Given the description of an element on the screen output the (x, y) to click on. 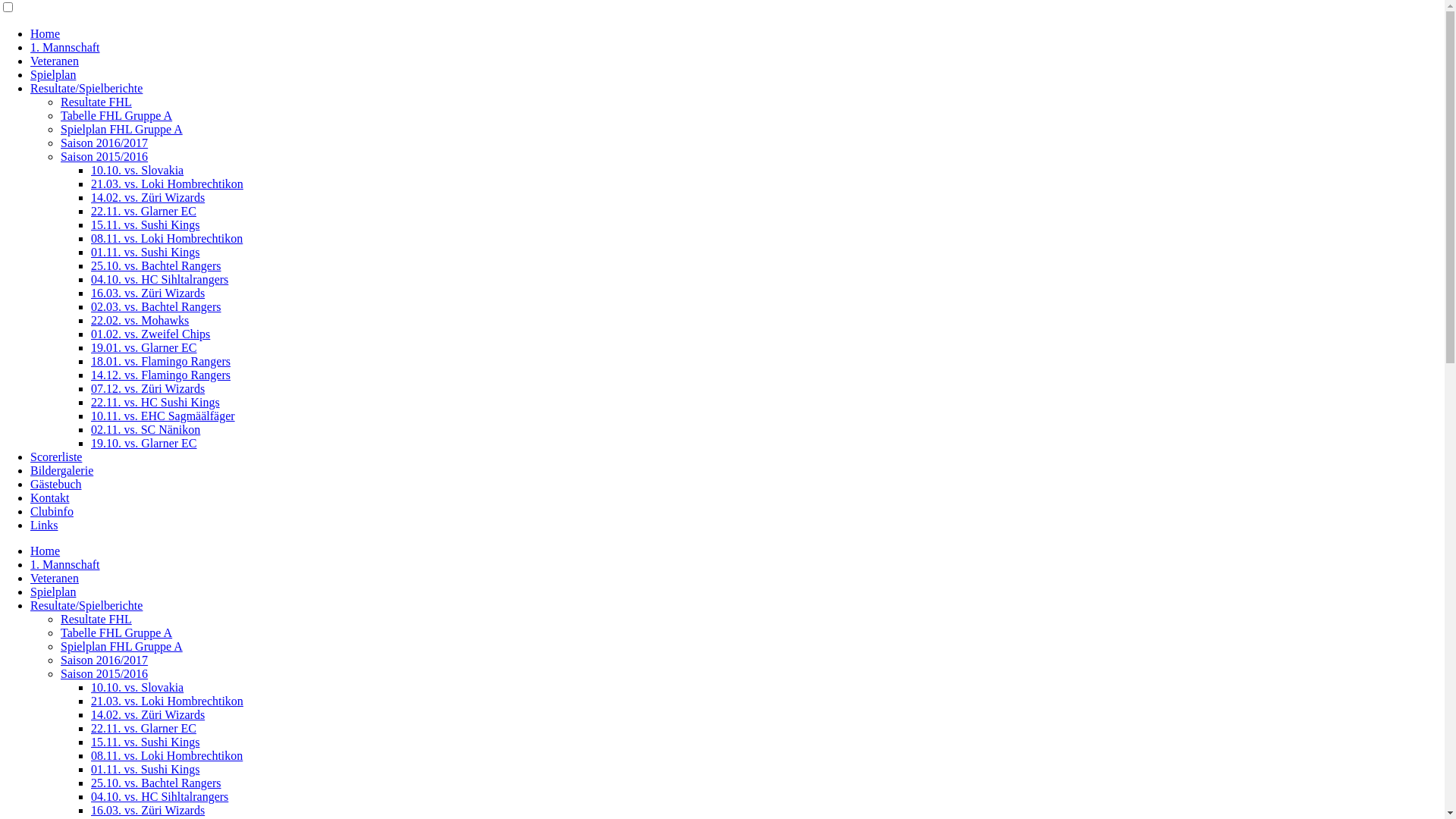
25.10. vs. Bachtel Rangers Element type: text (156, 265)
Veteranen Element type: text (54, 577)
Resultate/Spielberichte Element type: text (86, 87)
08.11. vs. Loki Hombrechtikon Element type: text (166, 238)
22.11. vs. Glarner EC Element type: text (143, 727)
Spielplan Element type: text (52, 591)
Spielplan Element type: text (52, 74)
01.11. vs. Sushi Kings Element type: text (145, 251)
Spielplan FHL Gruppe A Element type: text (121, 128)
21.03. vs. Loki Hombrechtikon Element type: text (167, 700)
08.11. vs. Loki Hombrechtikon Element type: text (166, 755)
Kontakt Element type: text (49, 497)
Resultate/Spielberichte Element type: text (86, 605)
Spielplan FHL Gruppe A Element type: text (121, 646)
10.10. vs. Slovakia Element type: text (137, 686)
21.03. vs. Loki Hombrechtikon Element type: text (167, 183)
Home Element type: text (44, 550)
10.10. vs. Slovakia Element type: text (137, 169)
Tabelle FHL Gruppe A Element type: text (116, 115)
02.03. vs. Bachtel Rangers Element type: text (156, 306)
1. Mannschaft Element type: text (65, 46)
Links Element type: text (43, 524)
01.11. vs. Sushi Kings Element type: text (145, 768)
19.10. vs. Glarner EC Element type: text (144, 442)
25.10. vs. Bachtel Rangers Element type: text (156, 782)
Bildergalerie Element type: text (61, 470)
Clubinfo Element type: text (51, 511)
18.01. vs. Flamingo Rangers Element type: text (160, 360)
Resultate FHL Element type: text (95, 101)
01.02. vs. Zweifel Chips Element type: text (150, 333)
22.02. vs. Mohawks Element type: text (139, 319)
Tabelle FHL Gruppe A Element type: text (116, 632)
14.12. vs. Flamingo Rangers Element type: text (160, 374)
04.10. vs. HC Sihltalrangers Element type: text (159, 279)
Scorerliste Element type: text (55, 456)
15.11. vs. Sushi Kings Element type: text (145, 224)
15.11. vs. Sushi Kings Element type: text (145, 741)
Home Element type: text (44, 33)
Veteranen Element type: text (54, 60)
Resultate FHL Element type: text (95, 618)
19.01. vs. Glarner EC Element type: text (144, 347)
22.11. vs. Glarner EC Element type: text (143, 210)
1. Mannschaft Element type: text (65, 564)
22.11. vs. HC Sushi Kings Element type: text (155, 401)
Saison 2015/2016 Element type: text (103, 156)
04.10. vs. HC Sihltalrangers Element type: text (159, 796)
Saison 2016/2017 Element type: text (103, 659)
Saison 2015/2016 Element type: text (103, 673)
Saison 2016/2017 Element type: text (103, 142)
